Given the description of an element on the screen output the (x, y) to click on. 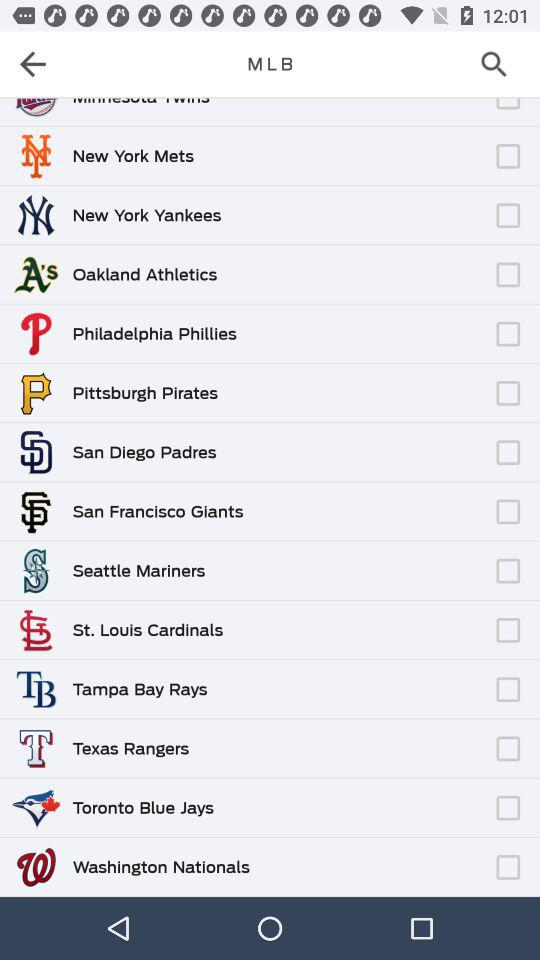
open icon to the right of the seattle mariners (347, 561)
